Given the description of an element on the screen output the (x, y) to click on. 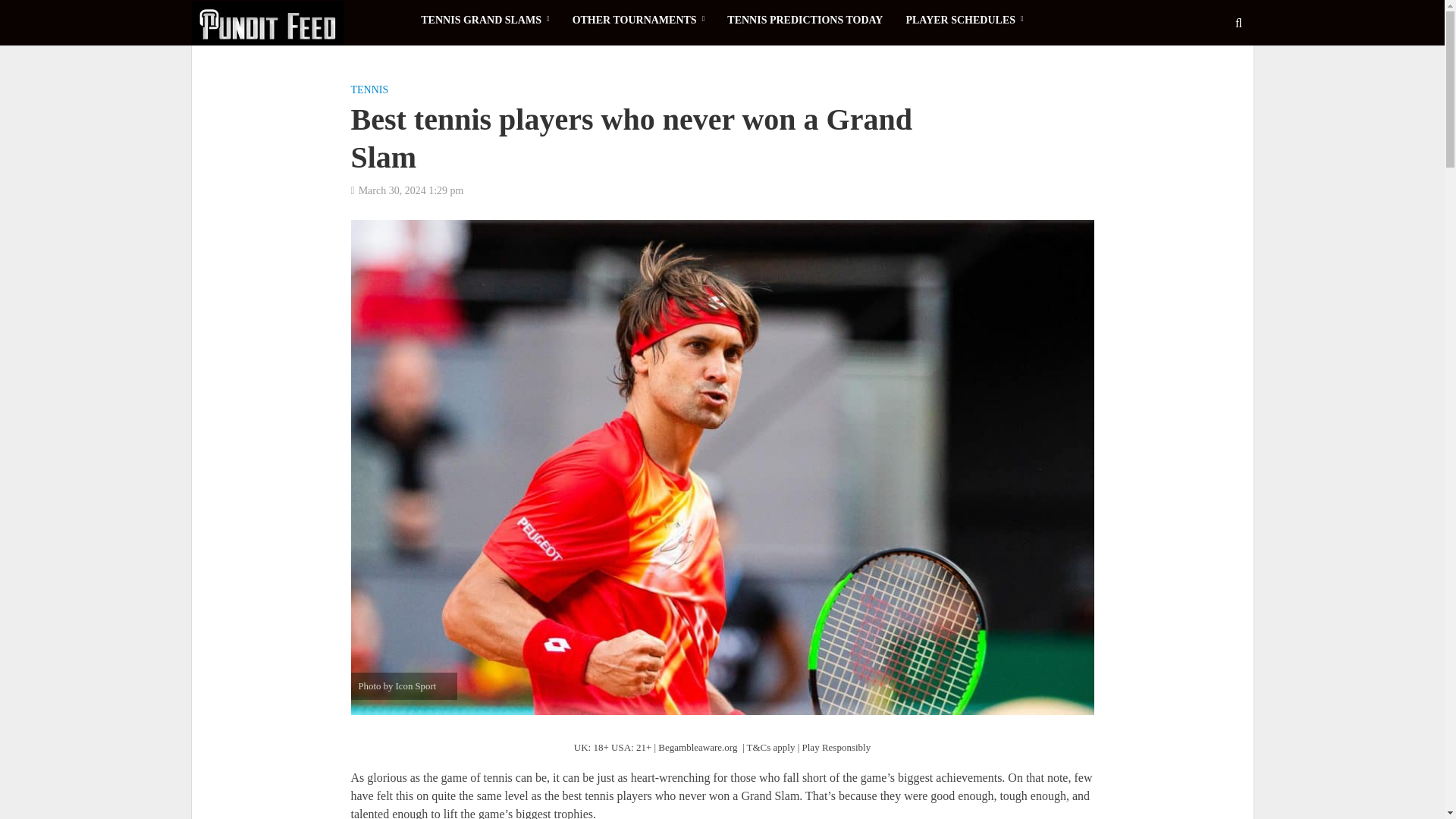
PLAYER SCHEDULES (963, 20)
TENNIS PREDICTIONS TODAY (804, 20)
OTHER TOURNAMENTS (638, 20)
TENNIS GRAND SLAMS (484, 20)
TENNIS (369, 91)
